Given the description of an element on the screen output the (x, y) to click on. 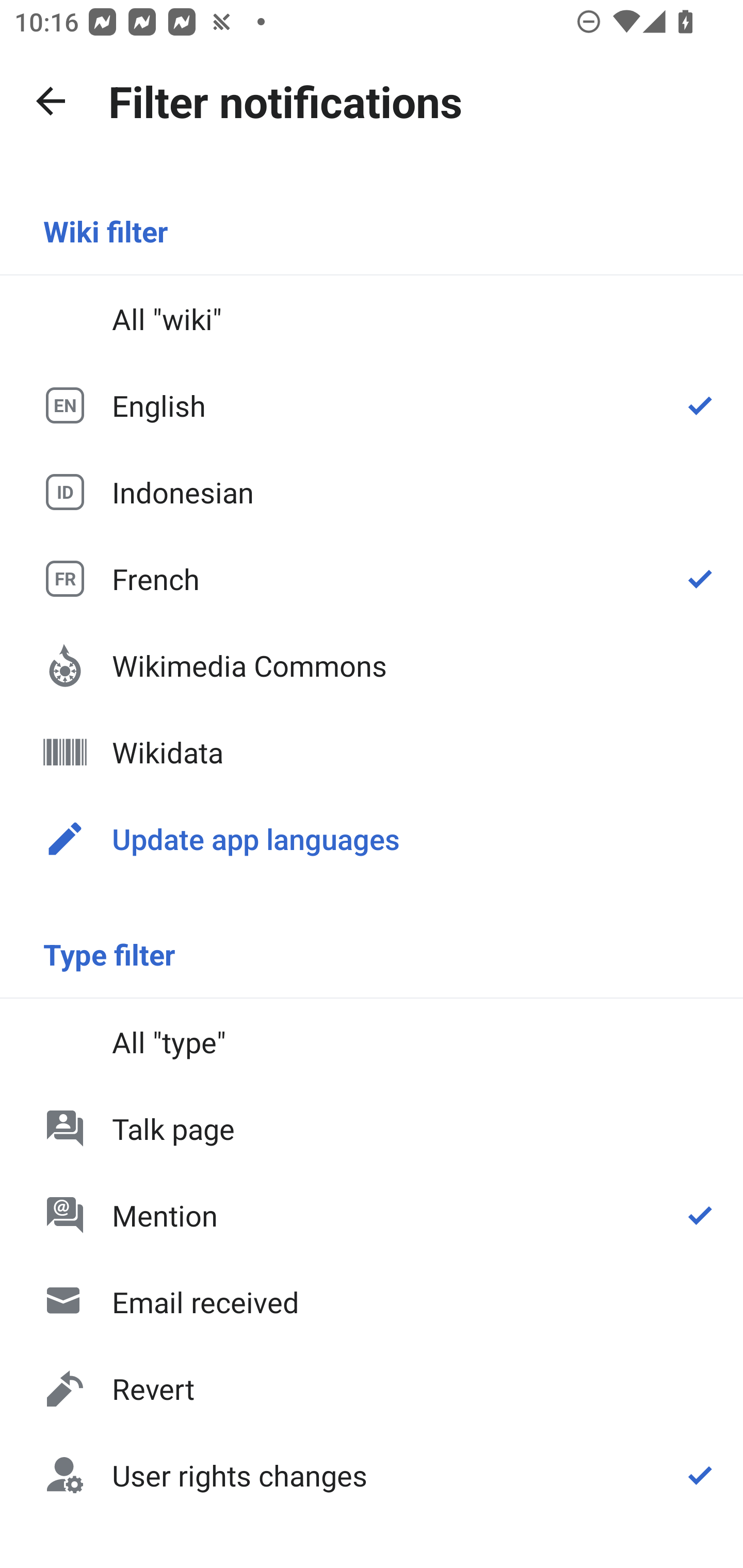
Navigate up (50, 101)
All "wiki" (371, 318)
EN English (371, 405)
ID Indonesian (371, 491)
FR French (371, 578)
Wikimedia Commons (371, 665)
Wikidata (371, 751)
Update app languages (371, 837)
All "type" (371, 1041)
Talk page (371, 1128)
Mention (371, 1215)
Email received (371, 1302)
Revert (371, 1388)
User rights changes (371, 1474)
